Given the description of an element on the screen output the (x, y) to click on. 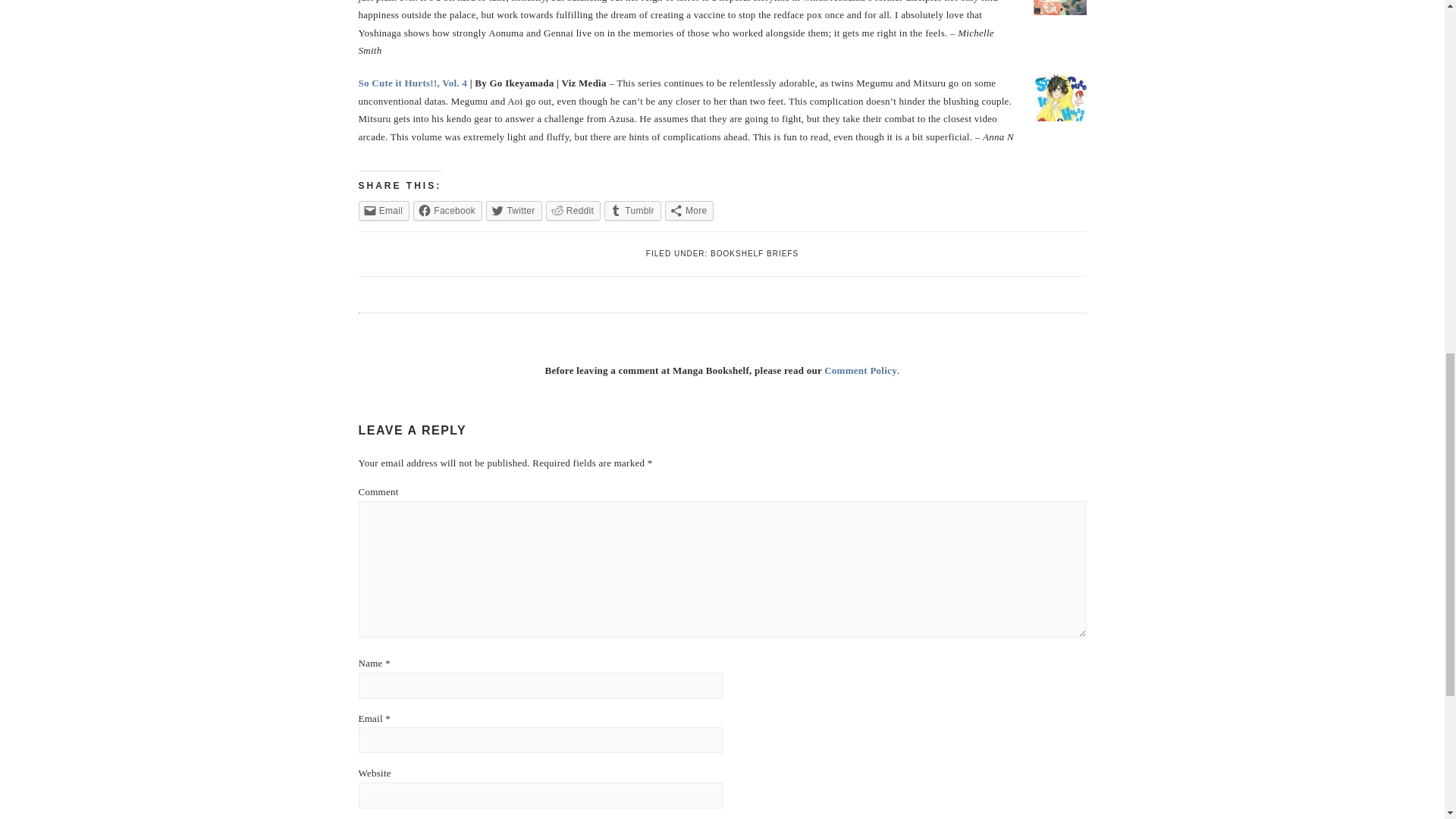
Click to email this to a friend (383, 210)
Click to share on Tumblr (632, 210)
Click to share on Twitter (513, 210)
Click to share on Facebook (447, 210)
Click to share on Reddit (573, 210)
